Given the description of an element on the screen output the (x, y) to click on. 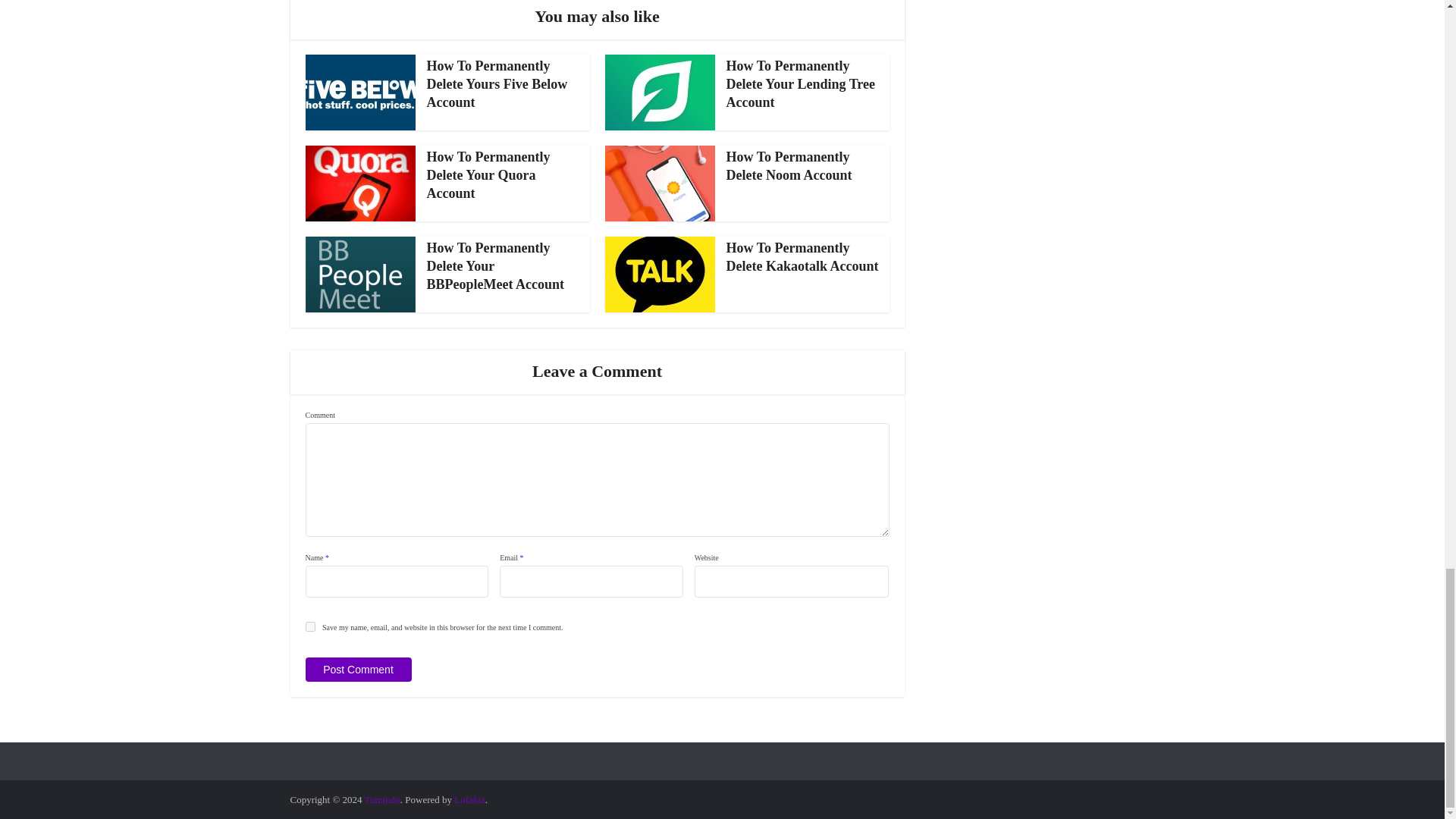
Post Comment (357, 669)
How To Permanently Delete Your BBPeopleMeet Account (494, 266)
How To Permanently Delete Yours Five Below Account (496, 84)
How To Permanently Delete Your Lending Tree Account (801, 84)
How To Permanently Delete Your Quora Account (488, 175)
yes (309, 626)
How To Permanently Delete Noom Account (788, 165)
How To Permanently Delete Your Quora Account (488, 175)
How To Permanently Delete Your Lending Tree Account (801, 84)
How To Permanently Delete Noom Account (788, 165)
How To Permanently Delete Yours Five Below Account (496, 84)
